Given the description of an element on the screen output the (x, y) to click on. 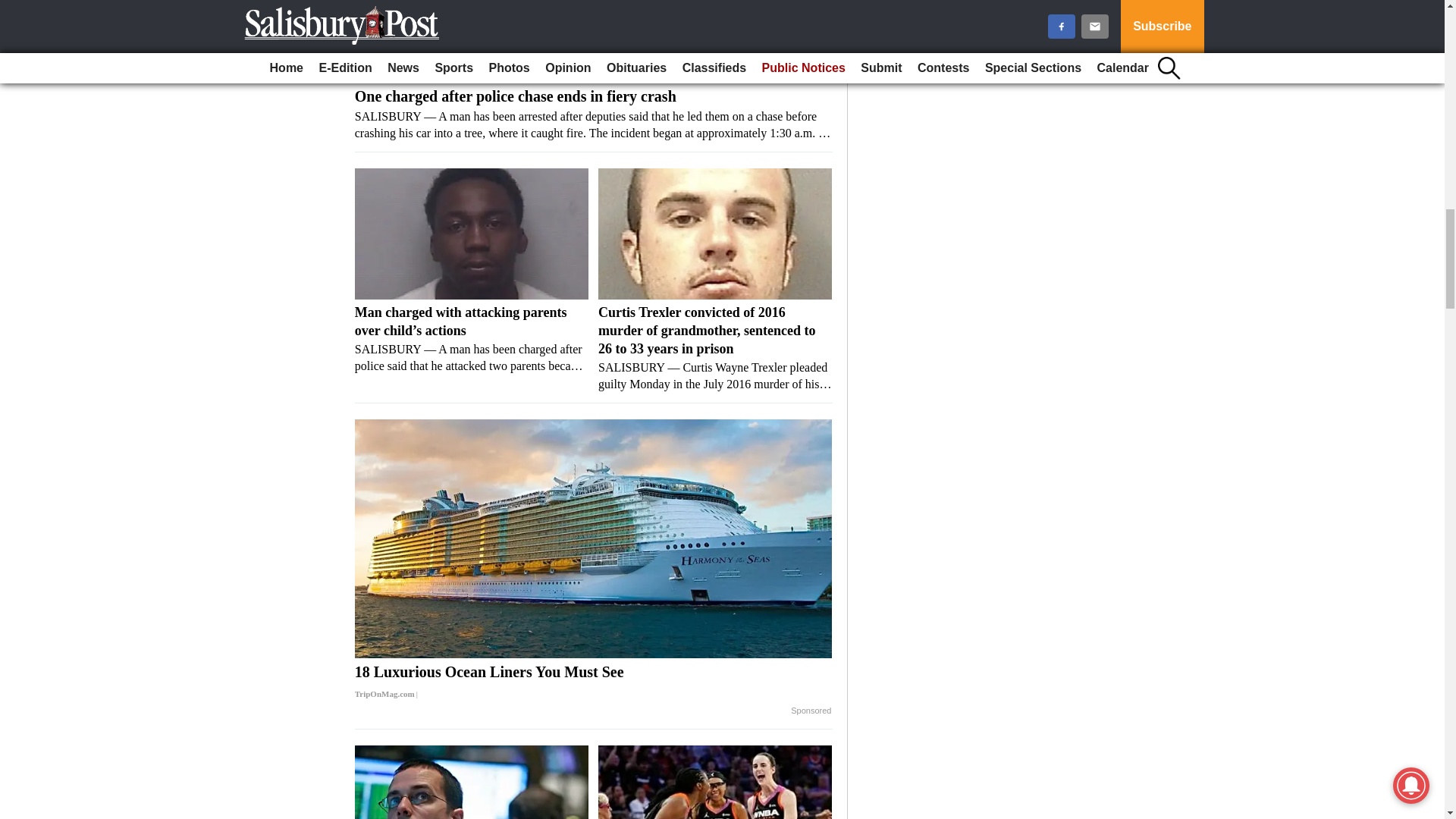
One charged after police chase ends in fiery crash (593, 41)
One charged after police chase ends in fiery crash (593, 113)
